Given the description of an element on the screen output the (x, y) to click on. 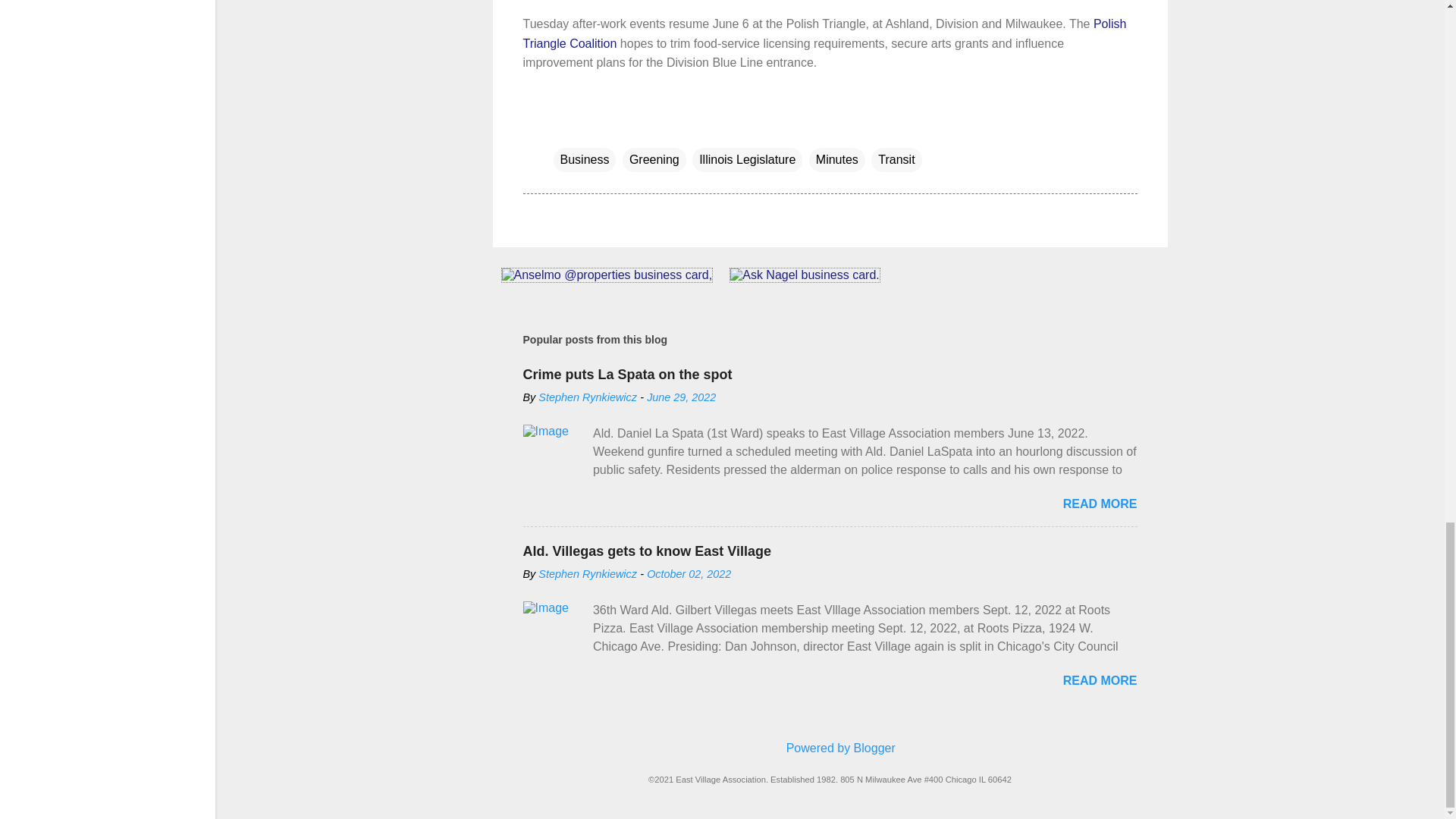
Ald. Villegas gets to know East Village (646, 550)
Crime puts La Spata on the spot (627, 374)
Minutes (836, 159)
June 29, 2022 (681, 397)
Transit (895, 159)
Greening (654, 159)
READ MORE (1099, 503)
Stephen Rynkiewicz (587, 573)
Stephen Rynkiewicz (587, 397)
Polish Triangle Coalition (824, 33)
